Given the description of an element on the screen output the (x, y) to click on. 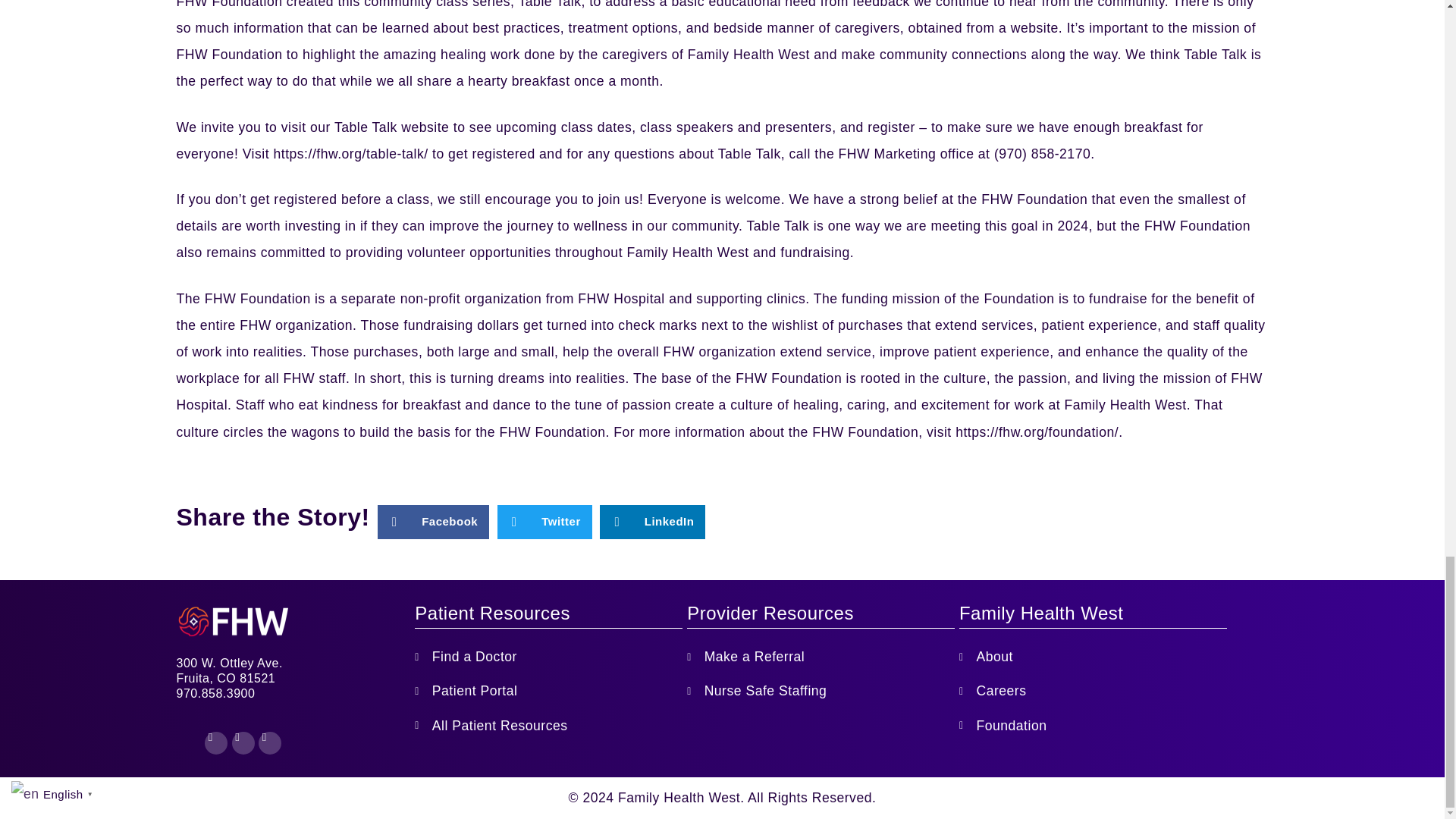
Find a Doctor (548, 656)
Careers (1093, 691)
About (1093, 656)
Foundation (1093, 725)
970.858.3900 (295, 693)
Make a Referral (821, 656)
All Patient Resources (548, 725)
Patient Portal (548, 691)
Nurse Safe Staffing (821, 691)
